Given the description of an element on the screen output the (x, y) to click on. 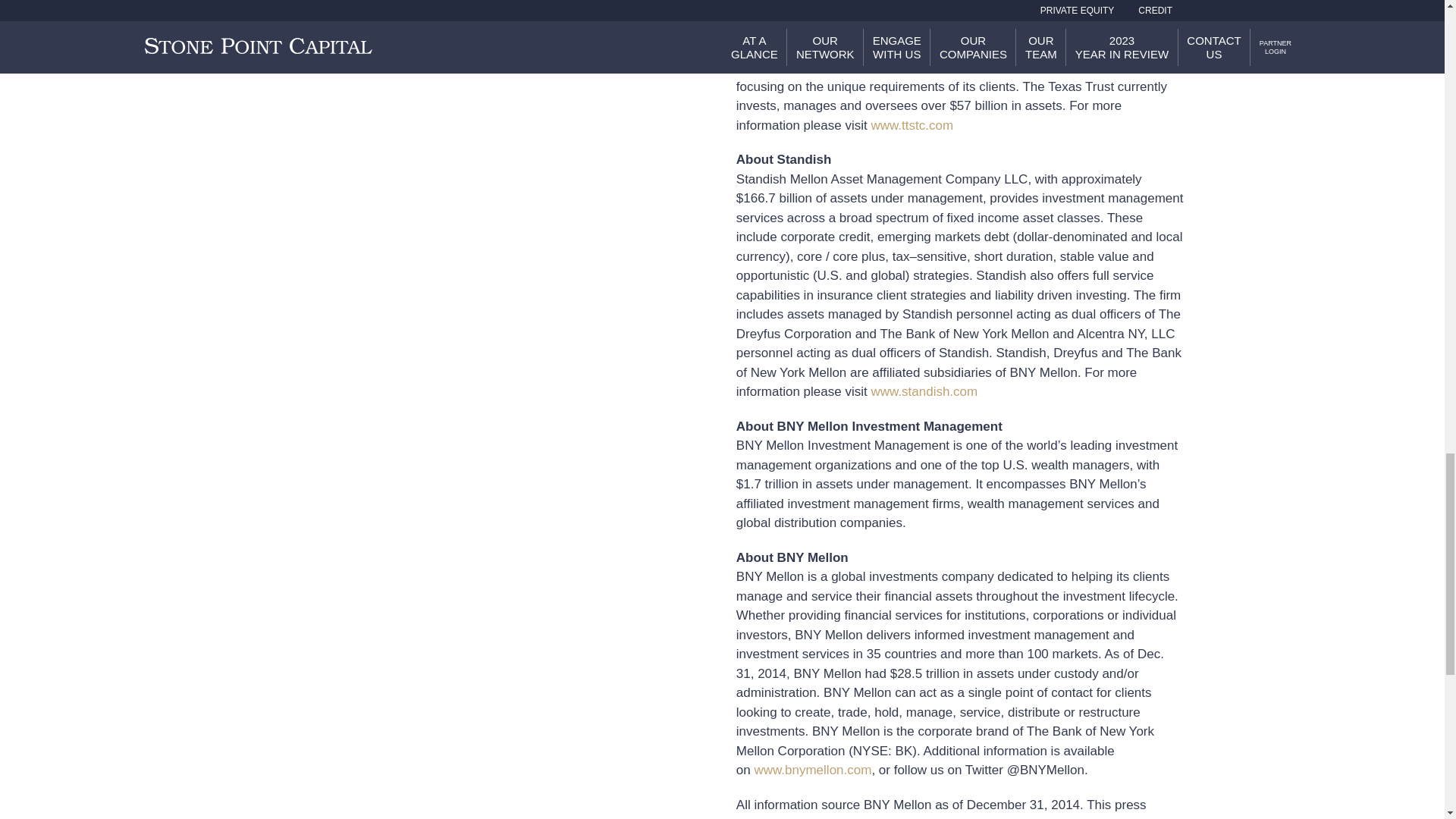
www.standish.com (923, 391)
www.bnymellon.com (812, 769)
www.ttstc.com (911, 124)
